Given the description of an element on the screen output the (x, y) to click on. 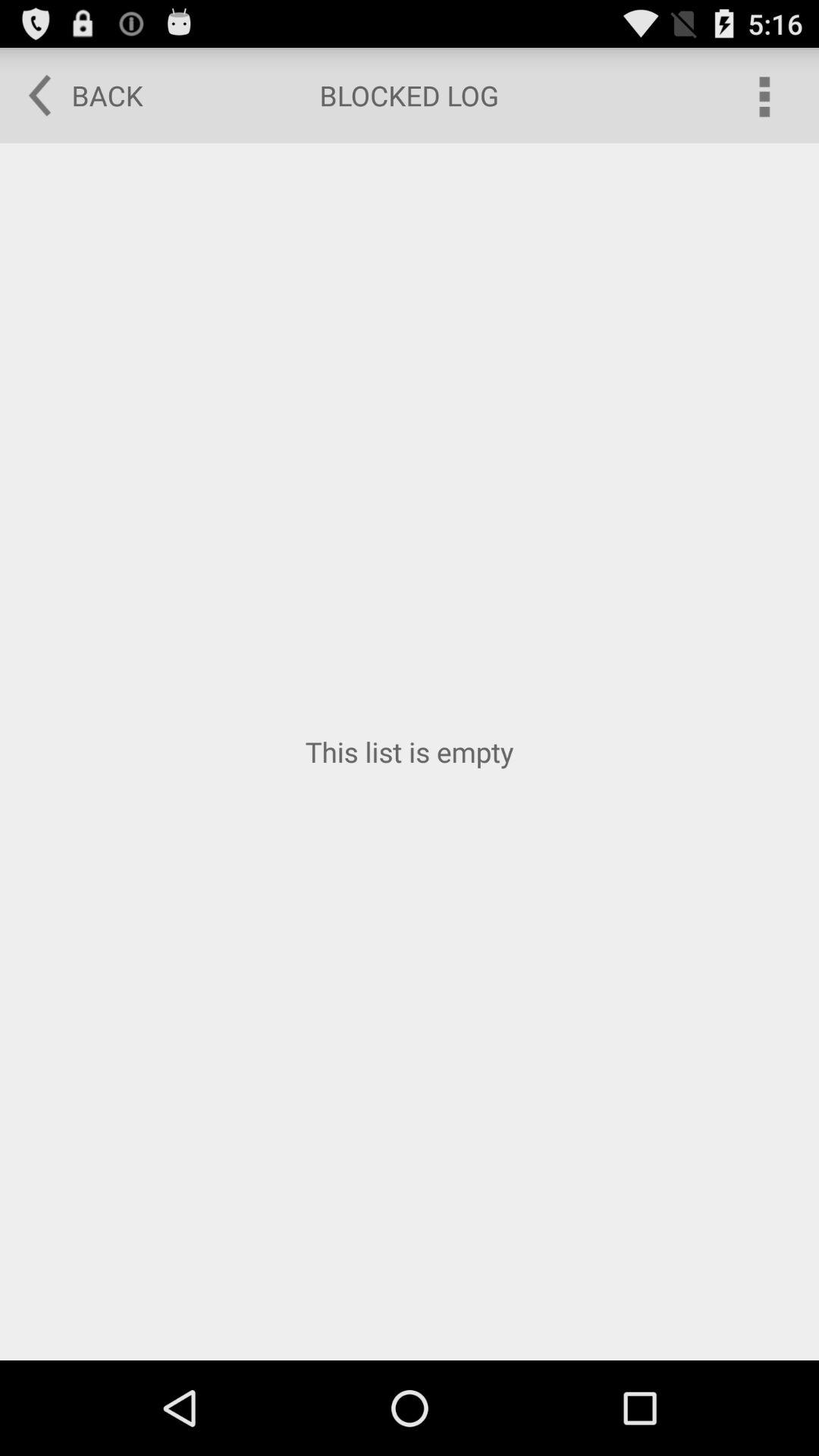
choose back icon (75, 95)
